Given the description of an element on the screen output the (x, y) to click on. 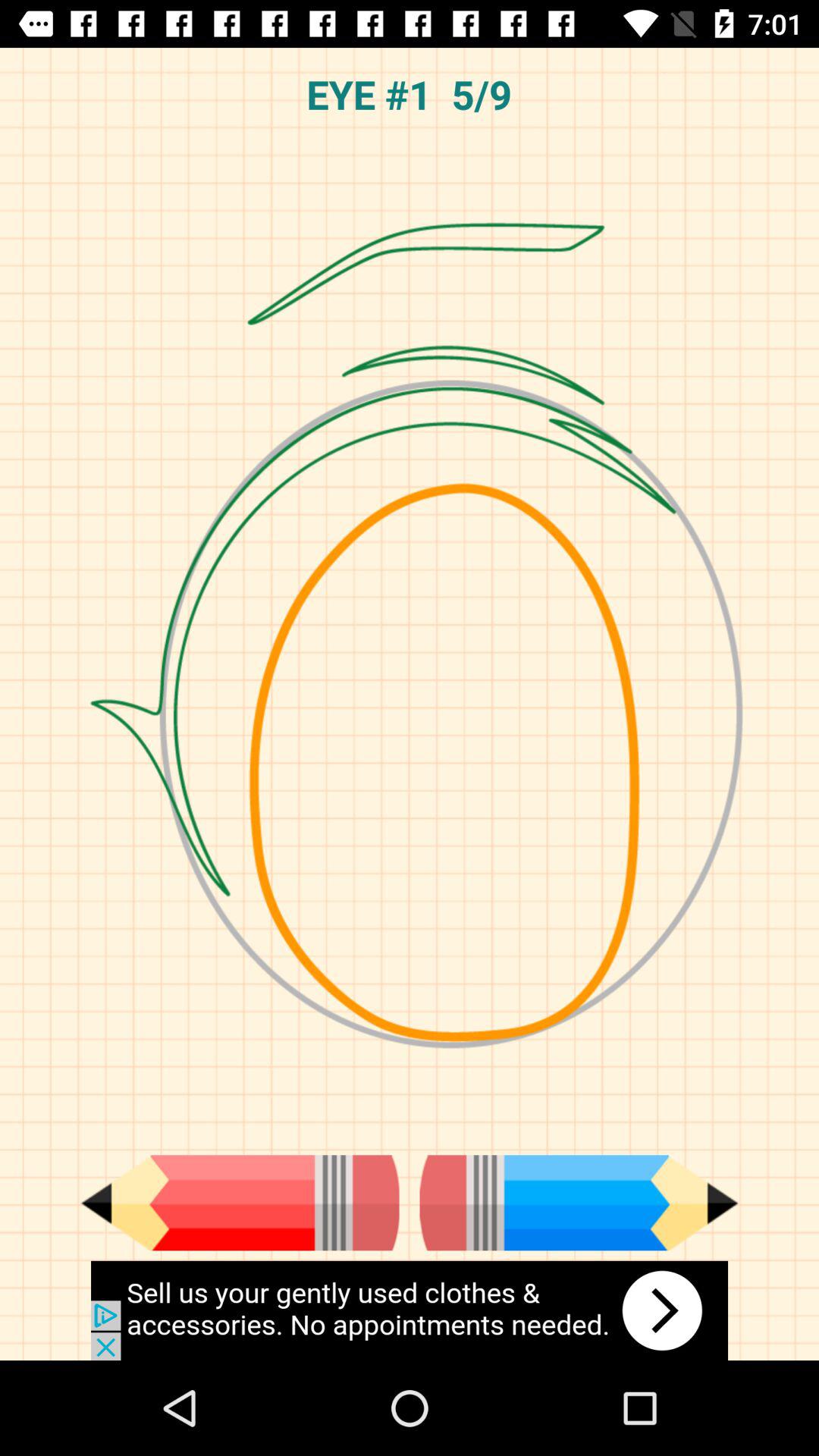
next page (578, 1202)
